Given the description of an element on the screen output the (x, y) to click on. 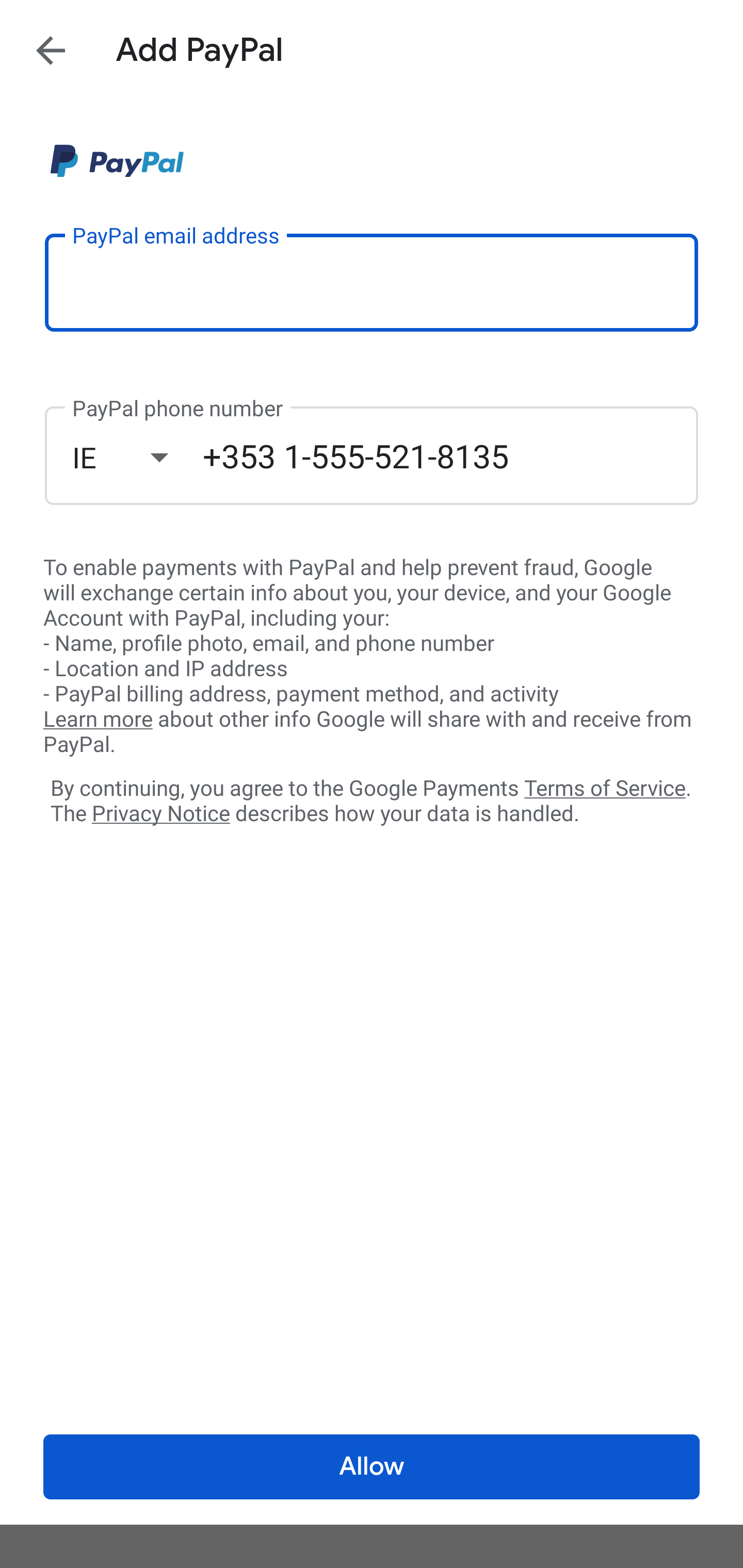
Navigate up (50, 50)
PayPal email address (371, 282)
IE (137, 456)
Learn more (97, 719)
Terms of Service (604, 787)
Privacy Notice (160, 814)
Allow (371, 1466)
